Given the description of an element on the screen output the (x, y) to click on. 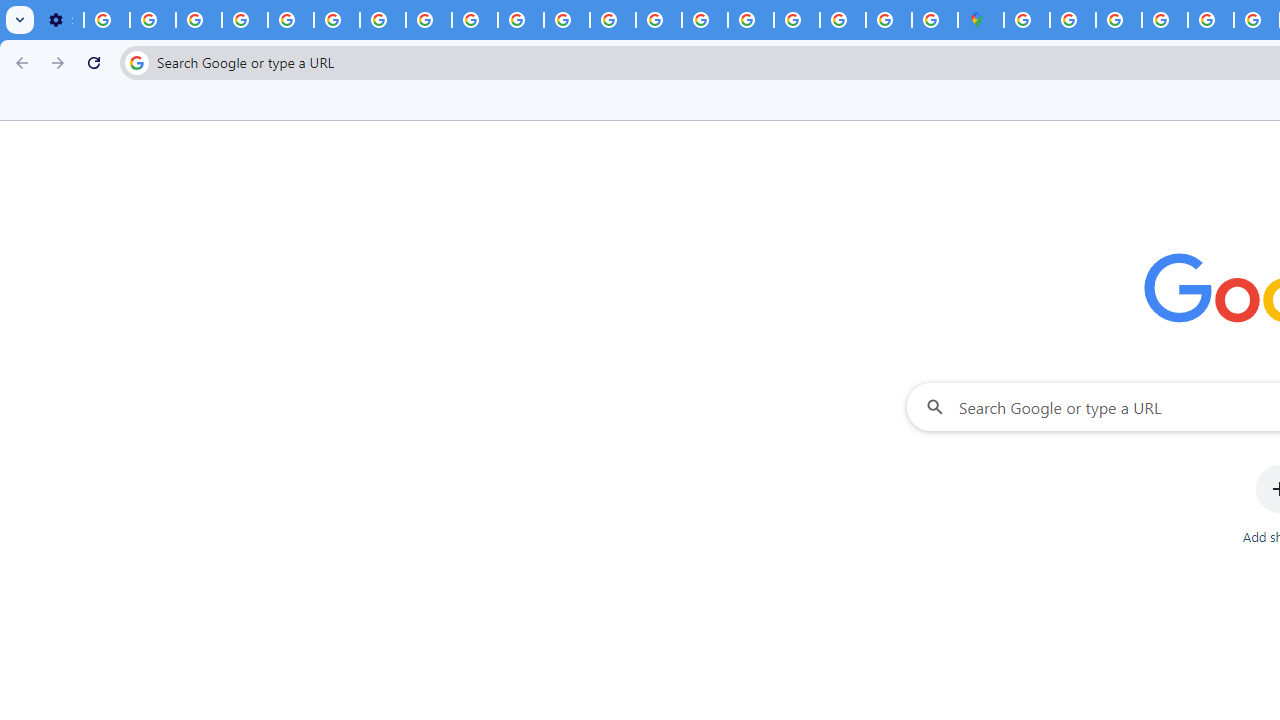
Delete photos & videos - Computer - Google Photos Help (107, 20)
https://scholar.google.com/ (567, 20)
YouTube (336, 20)
Privacy Help Center - Policies Help (290, 20)
Privacy Checkup (474, 20)
